Given the description of an element on the screen output the (x, y) to click on. 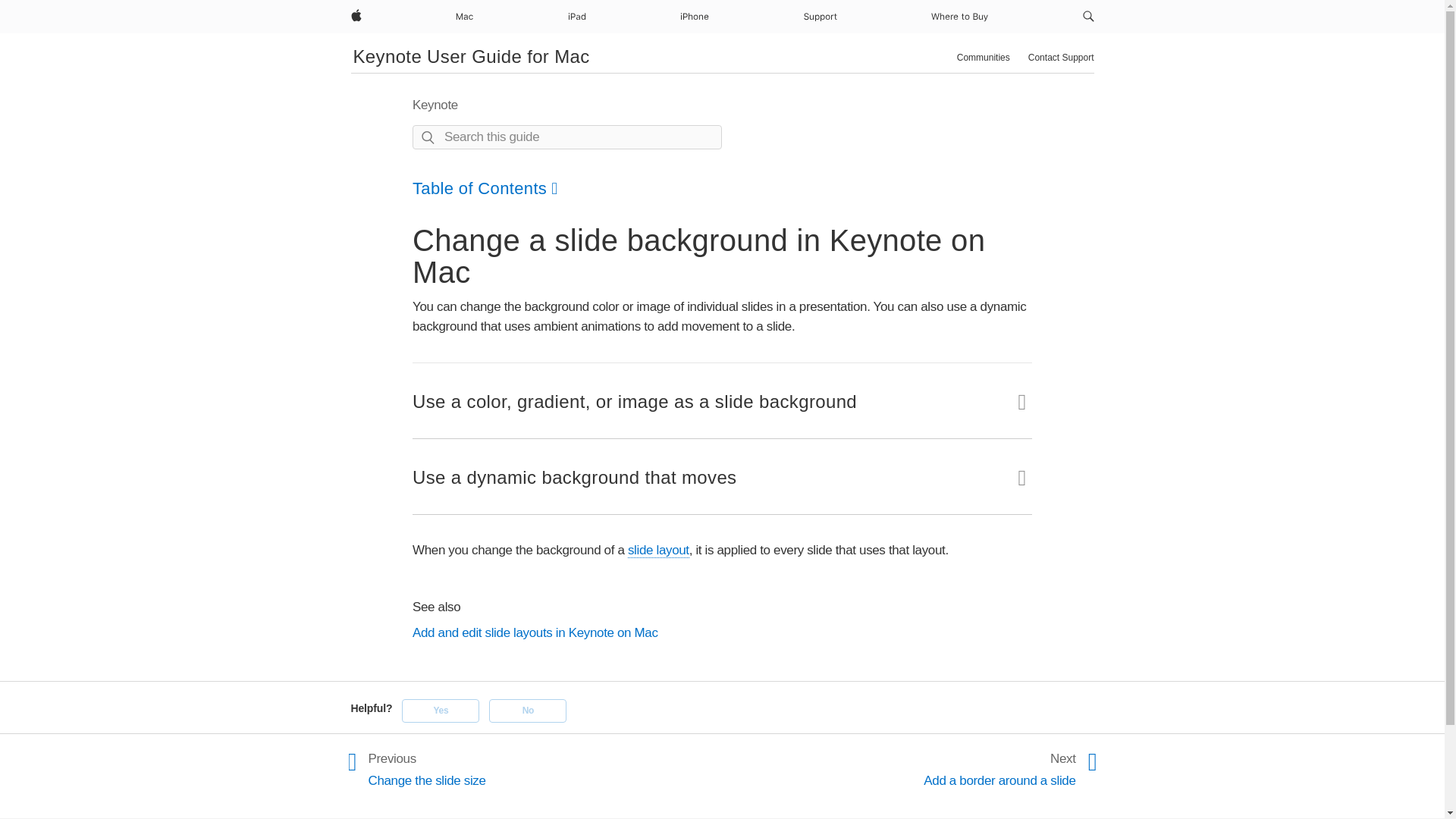
Not helpful (527, 710)
iPhone (694, 16)
Support (820, 16)
Solved my problem (440, 710)
iPad (575, 16)
